Given the description of an element on the screen output the (x, y) to click on. 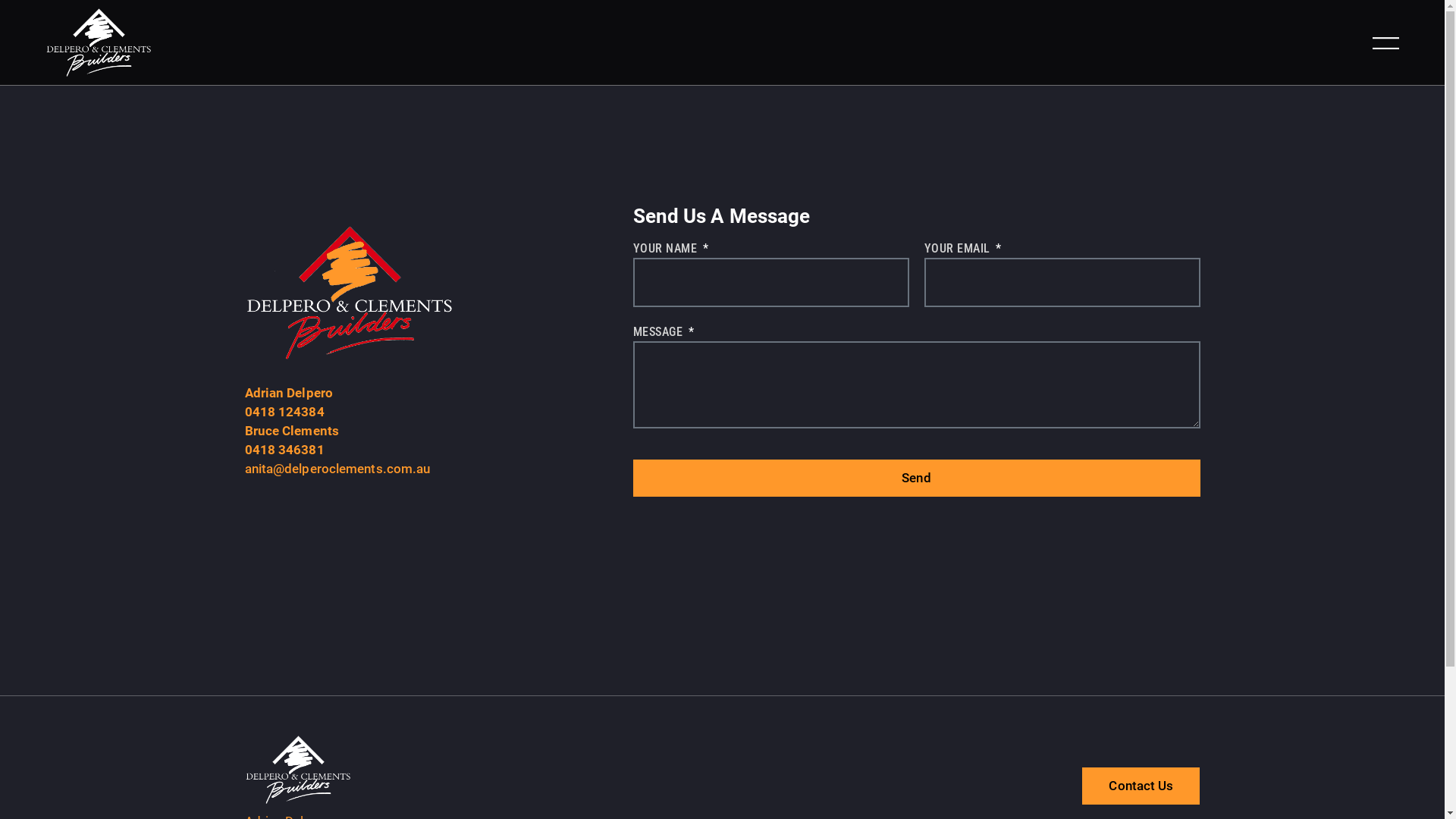
Send Element type: text (915, 477)
Contact Us Element type: text (1140, 785)
anita@delperoclements.com.au Element type: text (336, 468)
